Given the description of an element on the screen output the (x, y) to click on. 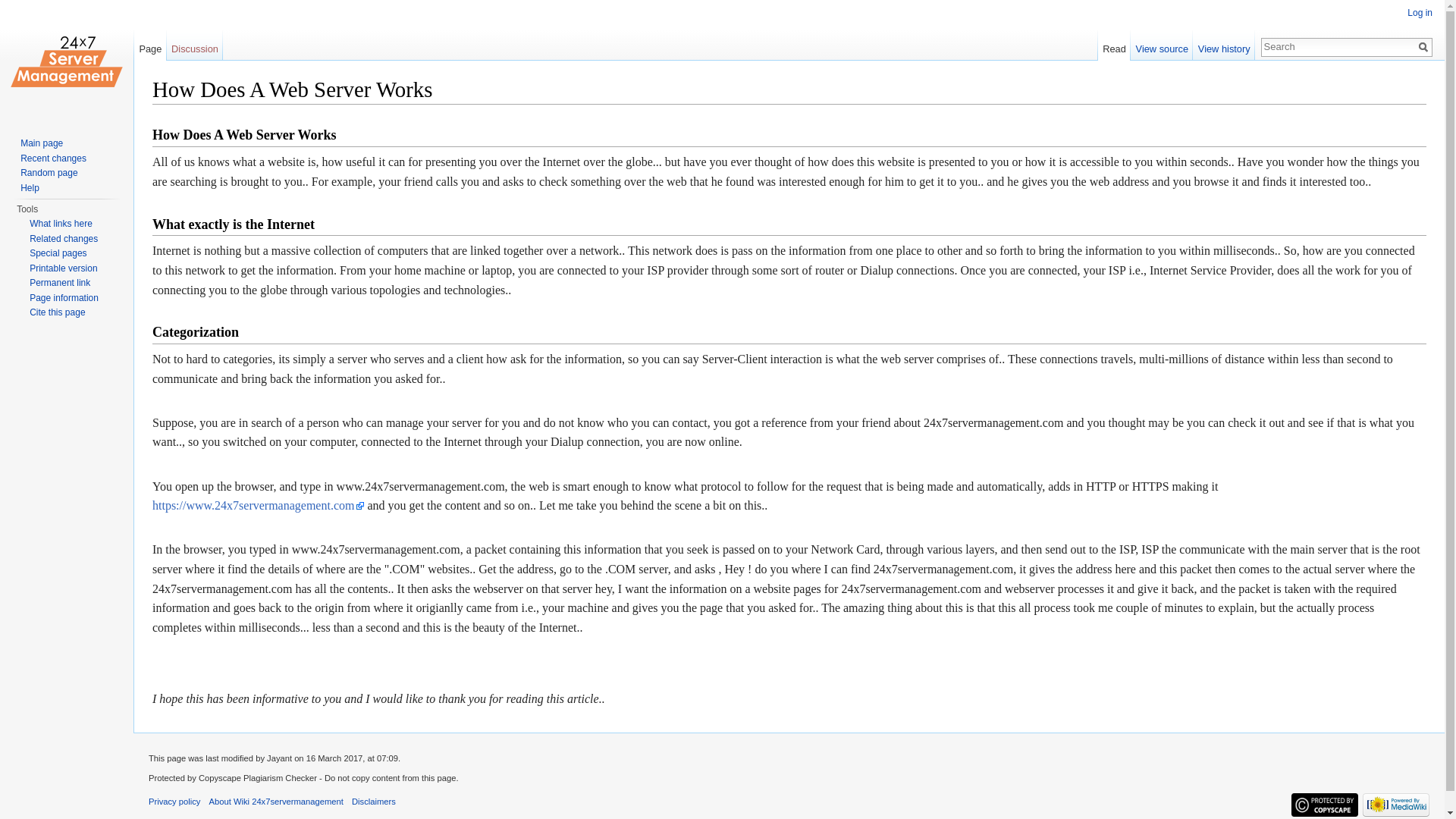
Search (1423, 46)
Go (1423, 46)
Disclaimers (374, 800)
View source (1161, 45)
Help (29, 186)
The place to find out (29, 186)
Cite this page (56, 312)
Main page (41, 143)
Special pages (57, 253)
About Wiki 24x7servermanagement (276, 800)
